Given the description of an element on the screen output the (x, y) to click on. 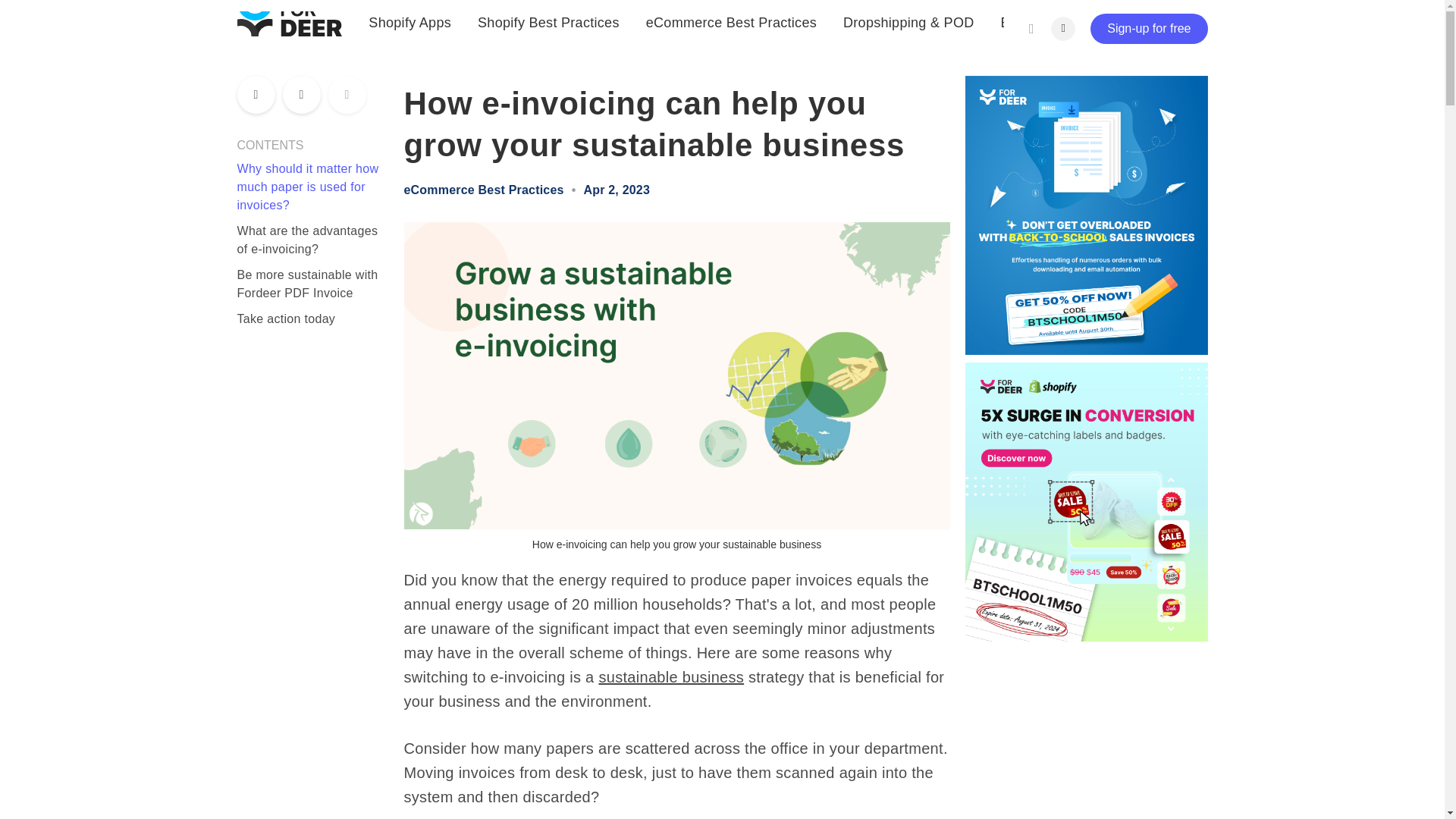
Sign-up for free (1148, 28)
B2B Market (1037, 3)
eCommerce Best Practices (483, 189)
More (1121, 8)
Why should it matter how much paper is used for invoices? (306, 186)
